Given the description of an element on the screen output the (x, y) to click on. 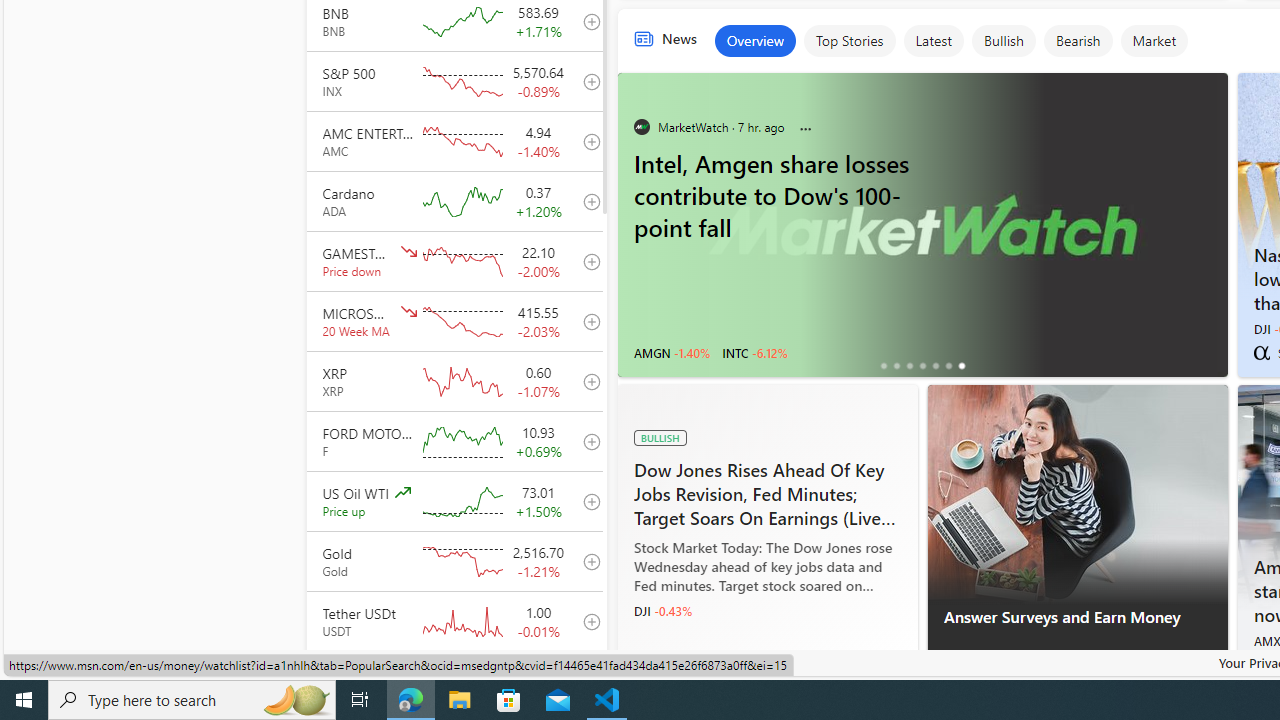
Bullish (1003, 40)
AMGN -1.40% (671, 352)
Market (1153, 40)
Answer Surveys and Earn Money (1076, 494)
Top Stories (848, 40)
Overview (755, 40)
AdChoices (1211, 668)
Latest (932, 40)
